Given the description of an element on the screen output the (x, y) to click on. 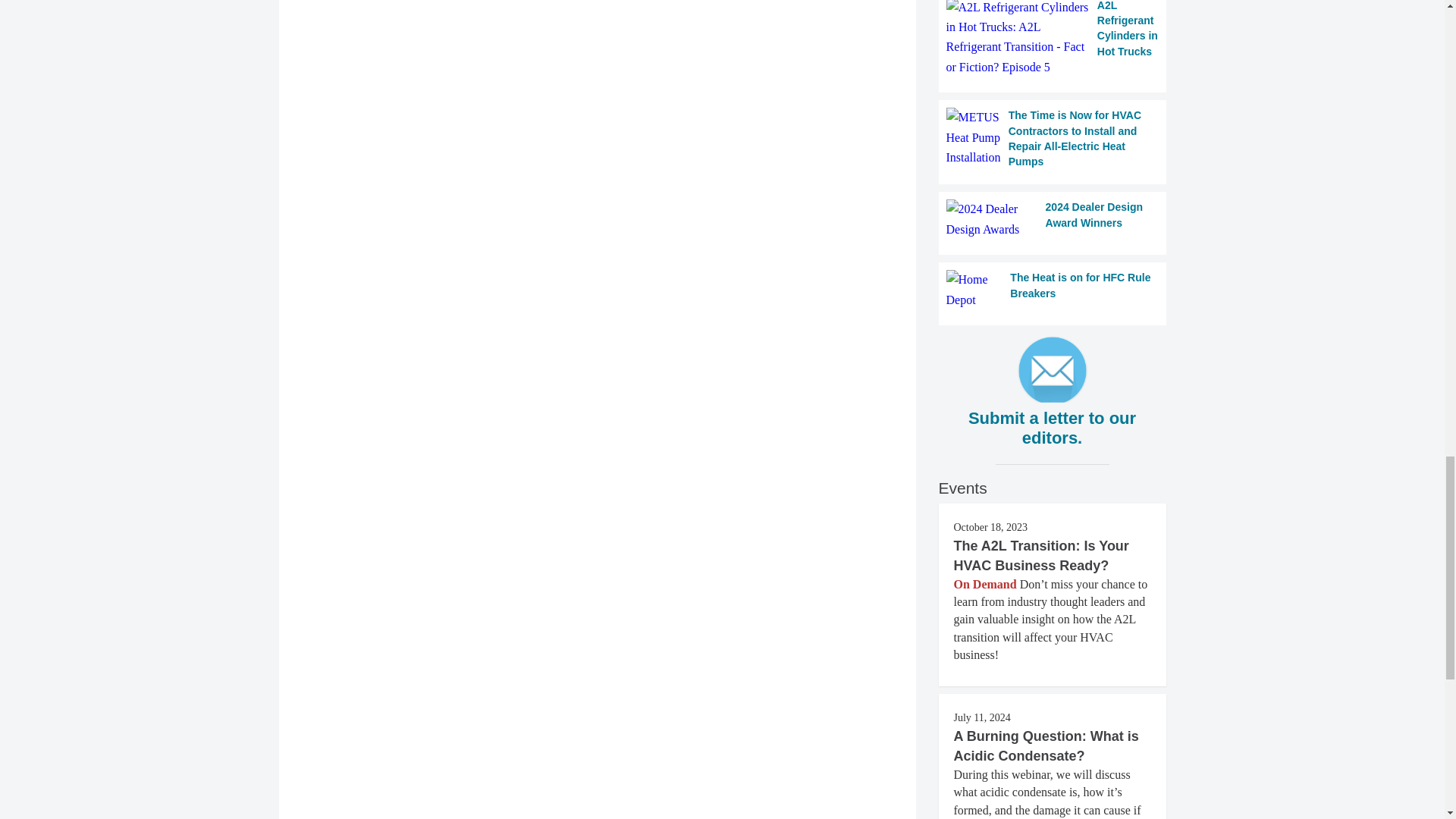
The Heat is on for HFC Rule Breakers (1052, 290)
2024 Dealer Design Award Winners (1052, 219)
A Burning Question: What is Acidic Condensate? (1045, 745)
The A2L Transition: Is Your HVAC Business Ready? (1041, 555)
A2L Refrigerant Cylinders in Hot Trucks (1052, 38)
